Given the description of an element on the screen output the (x, y) to click on. 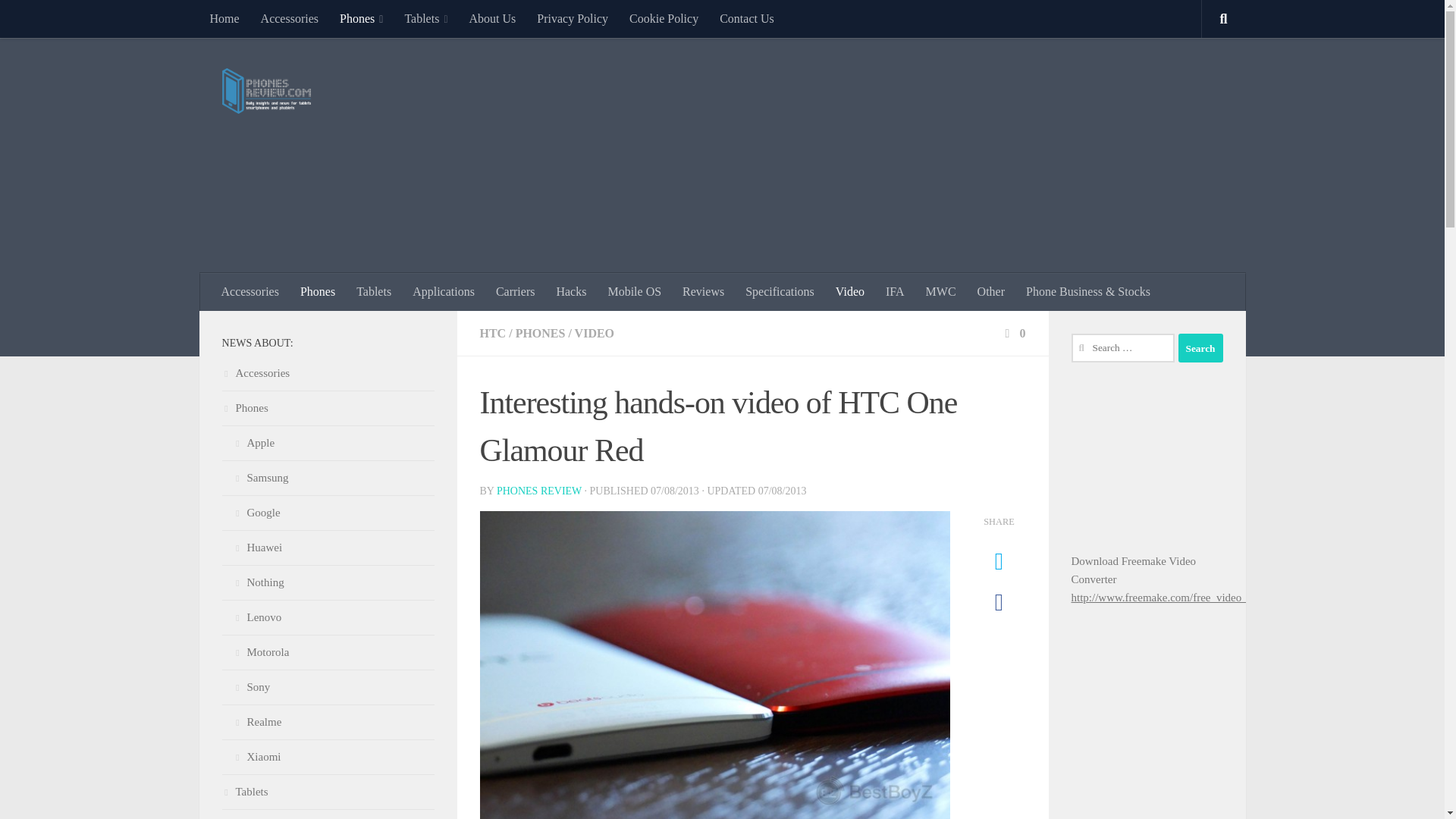
Skip to content (59, 20)
Search (1200, 347)
Accessories (289, 18)
Phones (361, 18)
Search (1200, 347)
Home (223, 18)
Posts by Phones Review (538, 490)
